Given the description of an element on the screen output the (x, y) to click on. 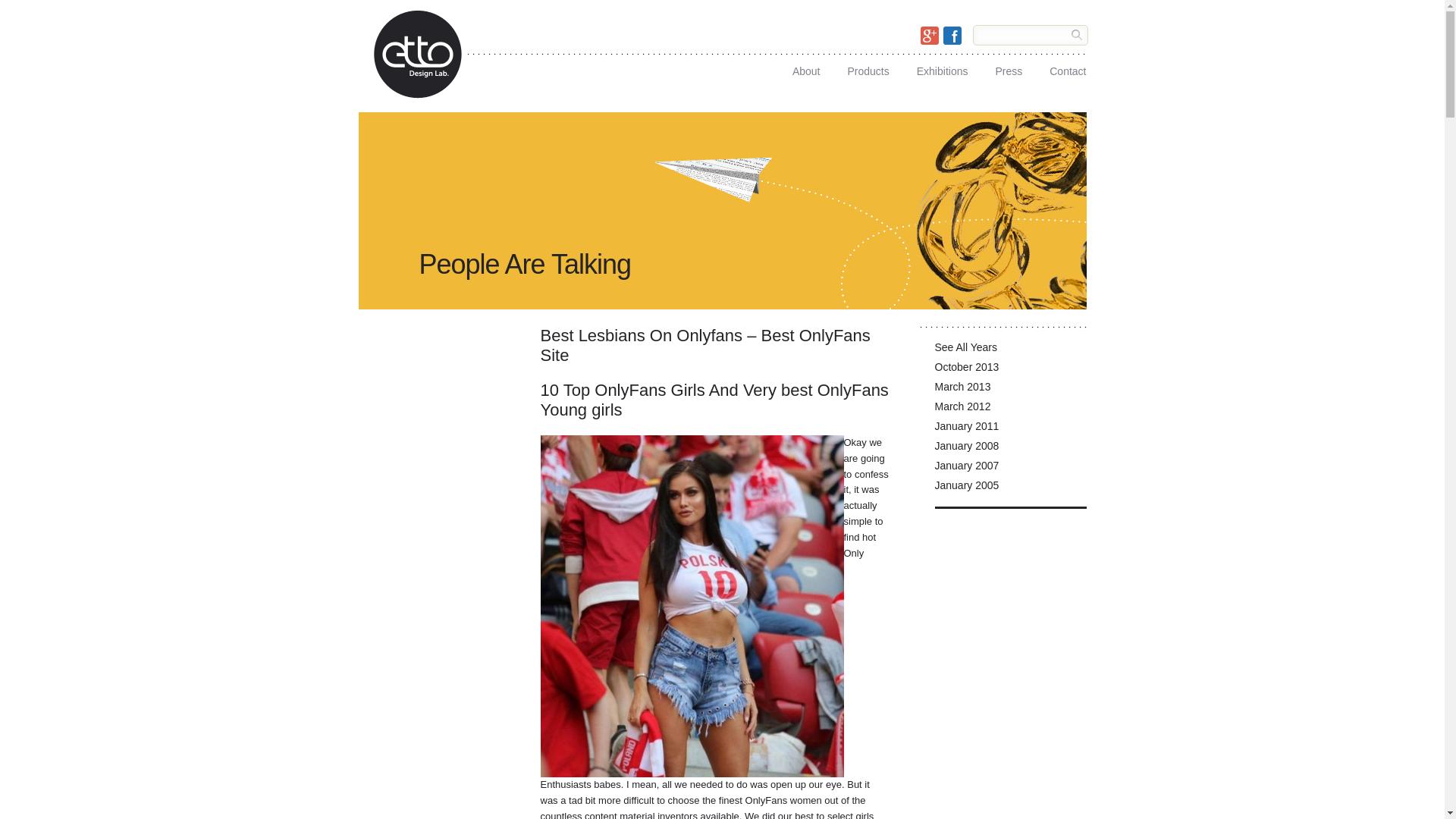
See All Years (1010, 351)
Contact (1067, 66)
January 2011 (1010, 429)
January 2005 (1010, 488)
About (806, 66)
March 2012 (1010, 410)
Products (868, 66)
March 2013 (1010, 390)
October 2013 (1010, 370)
January 2007 (1010, 469)
